Given the description of an element on the screen output the (x, y) to click on. 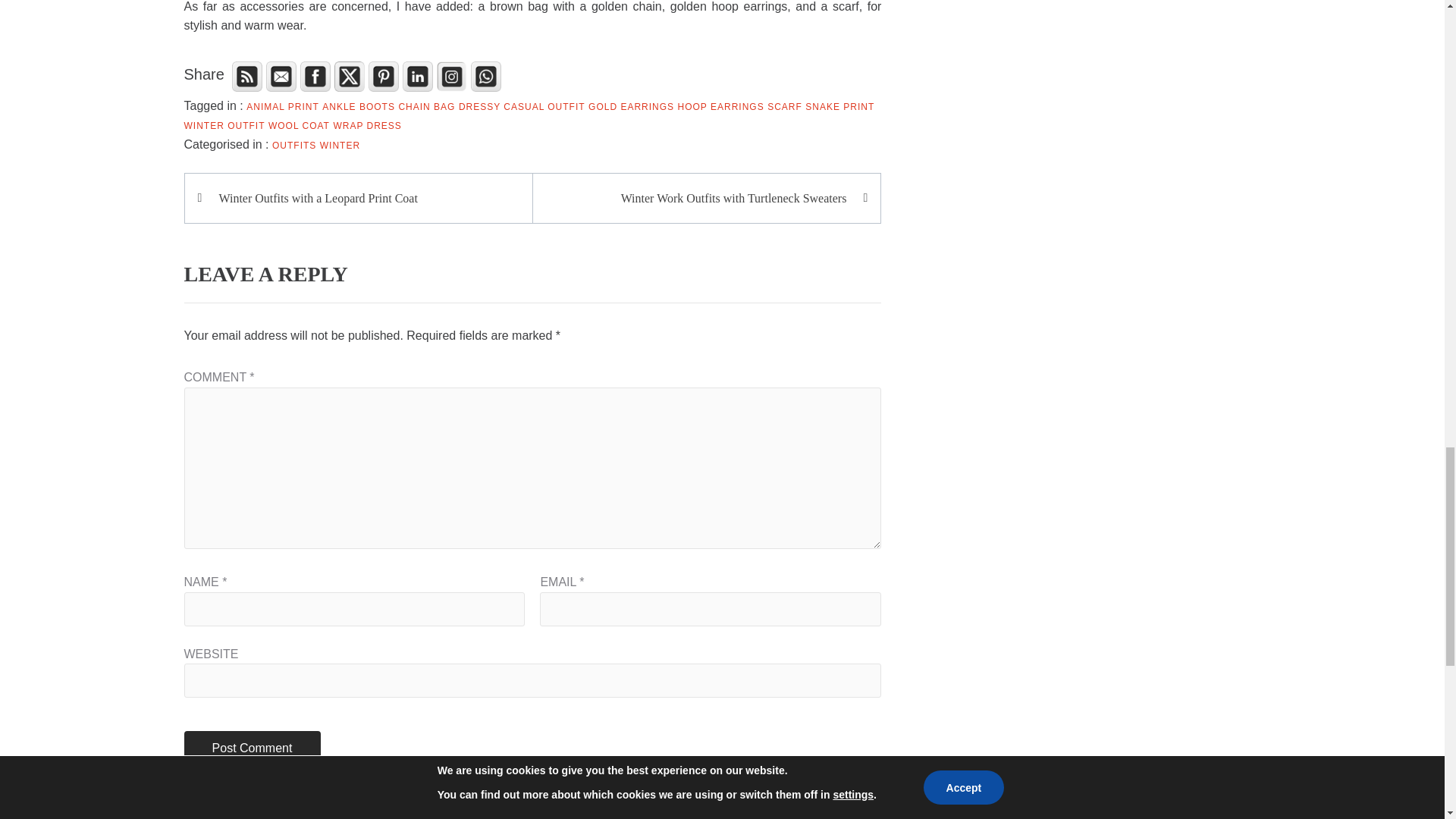
Post Comment (251, 747)
Pinterest (383, 76)
Follow by Email (281, 76)
LinkedIn (417, 76)
RSS (246, 76)
Instagram (451, 76)
Twitter (349, 76)
Facebook (314, 76)
